Given the description of an element on the screen output the (x, y) to click on. 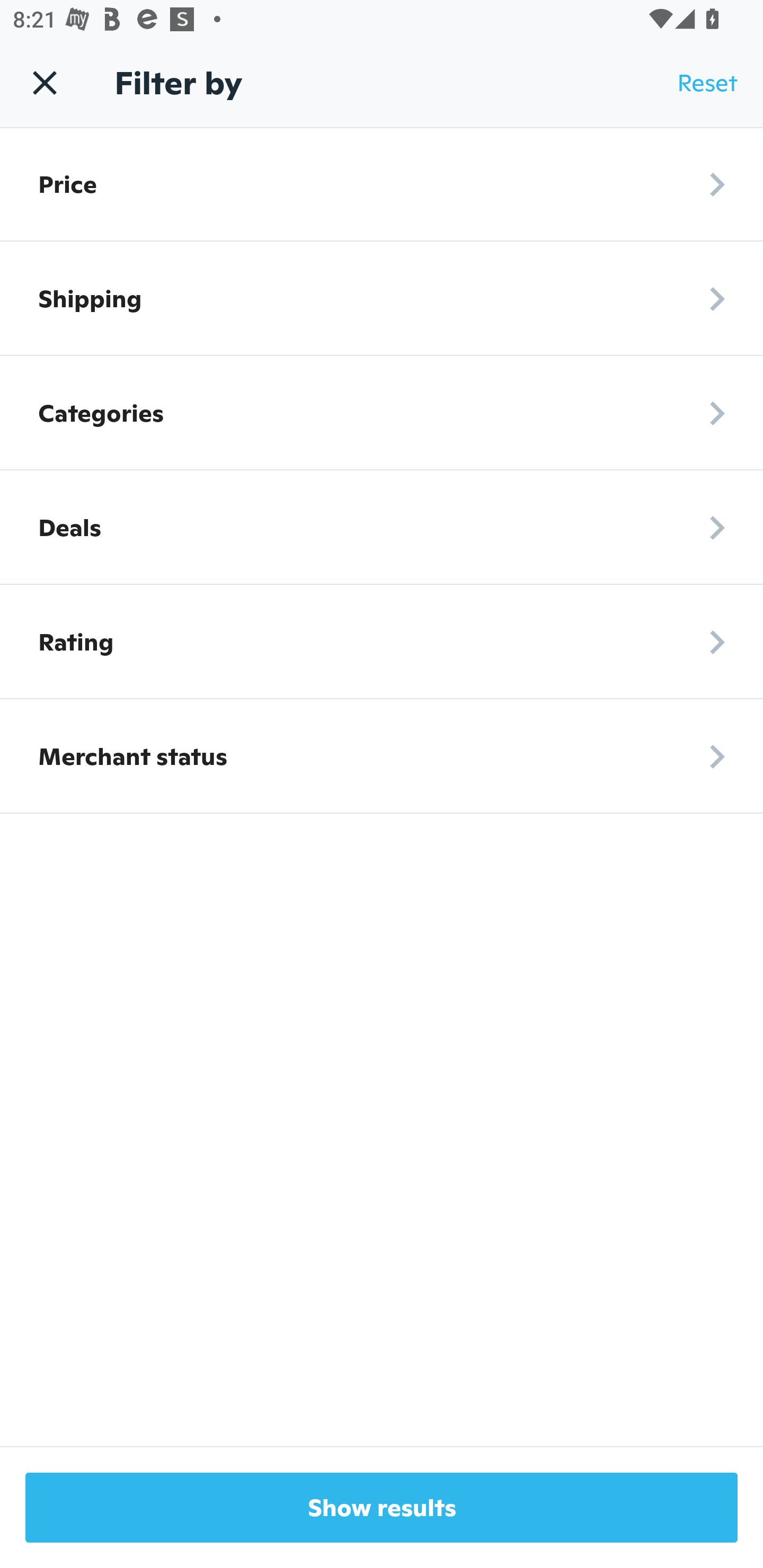
Navigate up (44, 82)
Reset (707, 82)
Price (381, 184)
Shipping (381, 298)
Categories (381, 412)
Deals (381, 527)
Rating (381, 641)
Merchant status (381, 756)
Show results (381, 1507)
